Given the description of an element on the screen output the (x, y) to click on. 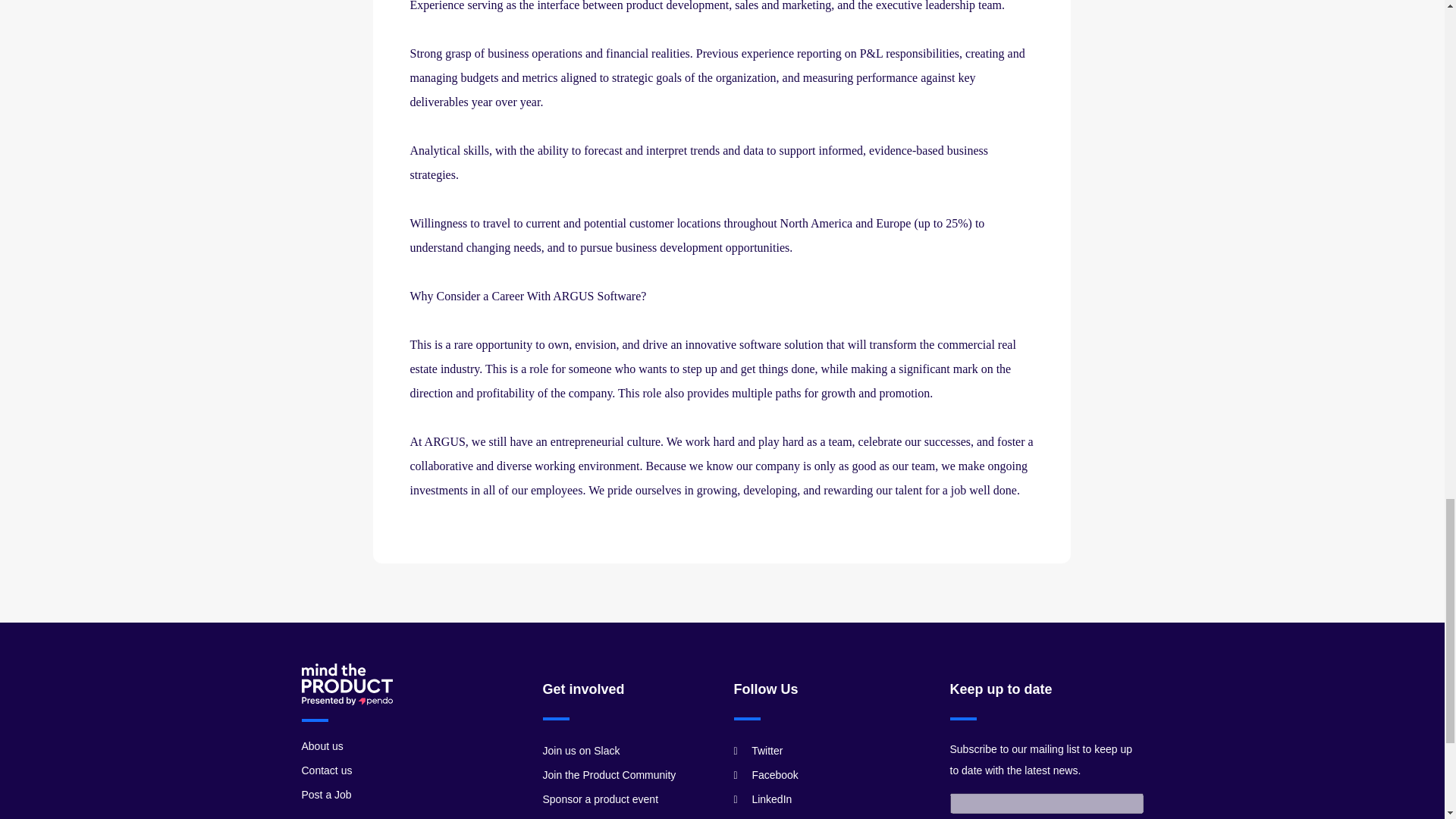
LinkedIn (762, 799)
Join us on Slack (581, 750)
Contact us (326, 770)
About us (322, 746)
Write for Mind the Product (604, 818)
Join the Product Community (610, 775)
Post a Job (326, 794)
Twitter (758, 750)
Facebook (765, 775)
Sponsor a product event (601, 799)
Instagram (766, 818)
Mind The Product (347, 684)
